Given the description of an element on the screen output the (x, y) to click on. 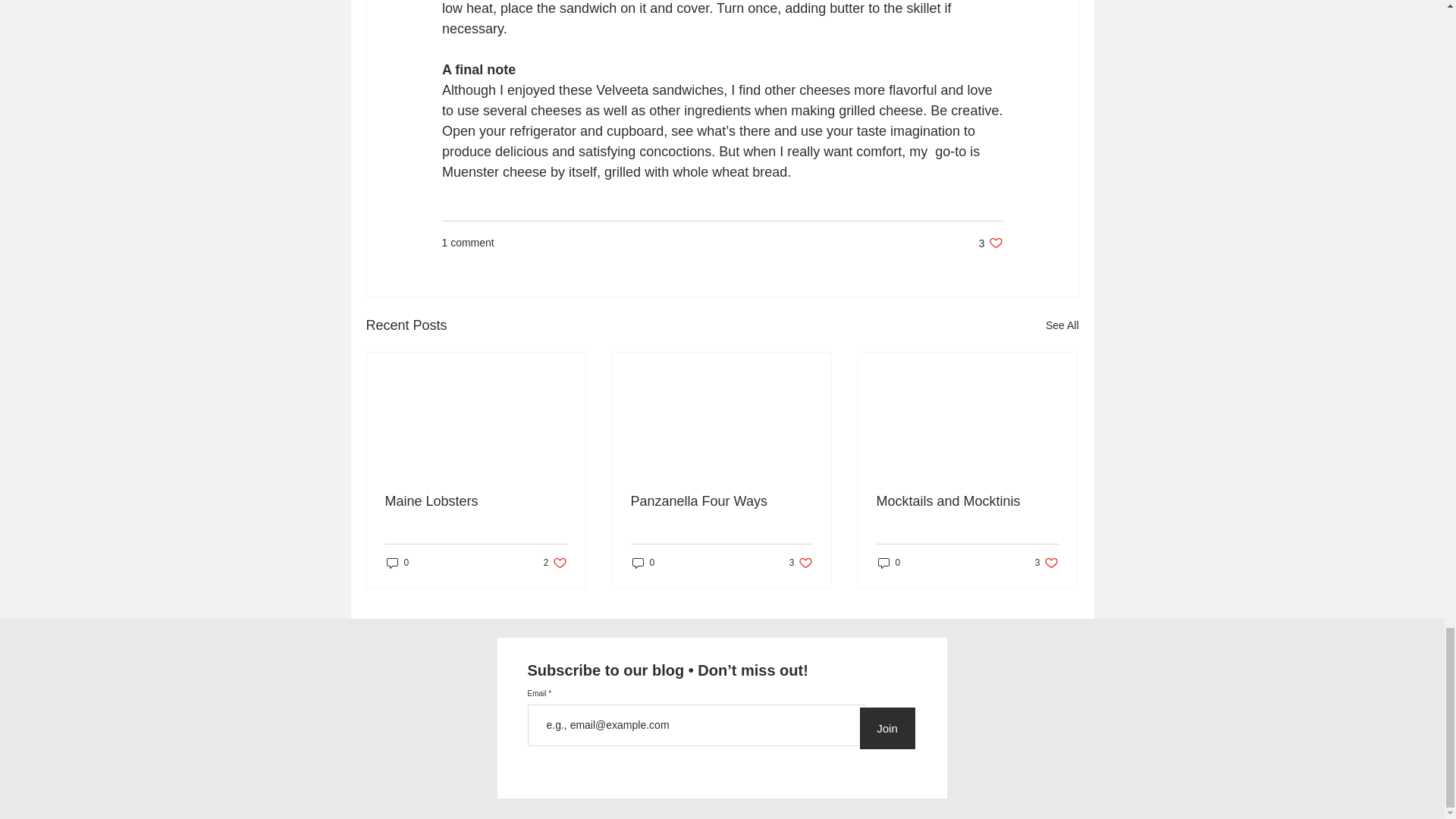
Mocktails and Mocktinis (967, 501)
0 (889, 563)
0 (643, 563)
Panzanella Four Ways (721, 501)
0 (555, 563)
Join (397, 563)
Maine Lobsters (1046, 563)
